Given the description of an element on the screen output the (x, y) to click on. 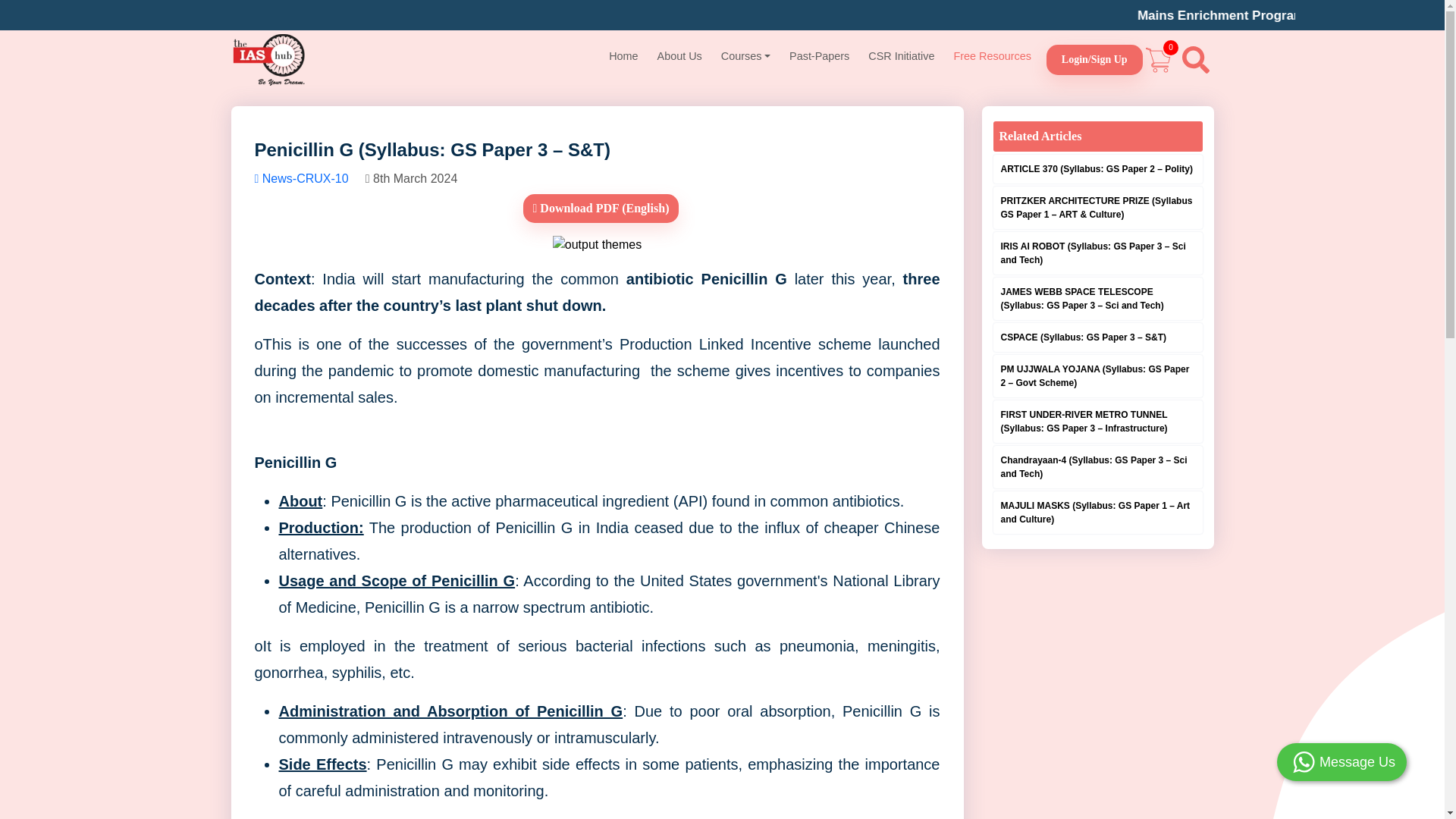
About Us (679, 56)
Home (622, 56)
Free Resources (991, 56)
News-CRUX-10 (303, 178)
0 (1157, 58)
Courses (745, 56)
0 (1157, 58)
Past-Papers (818, 56)
CSR Initiative (900, 56)
